Given the description of an element on the screen output the (x, y) to click on. 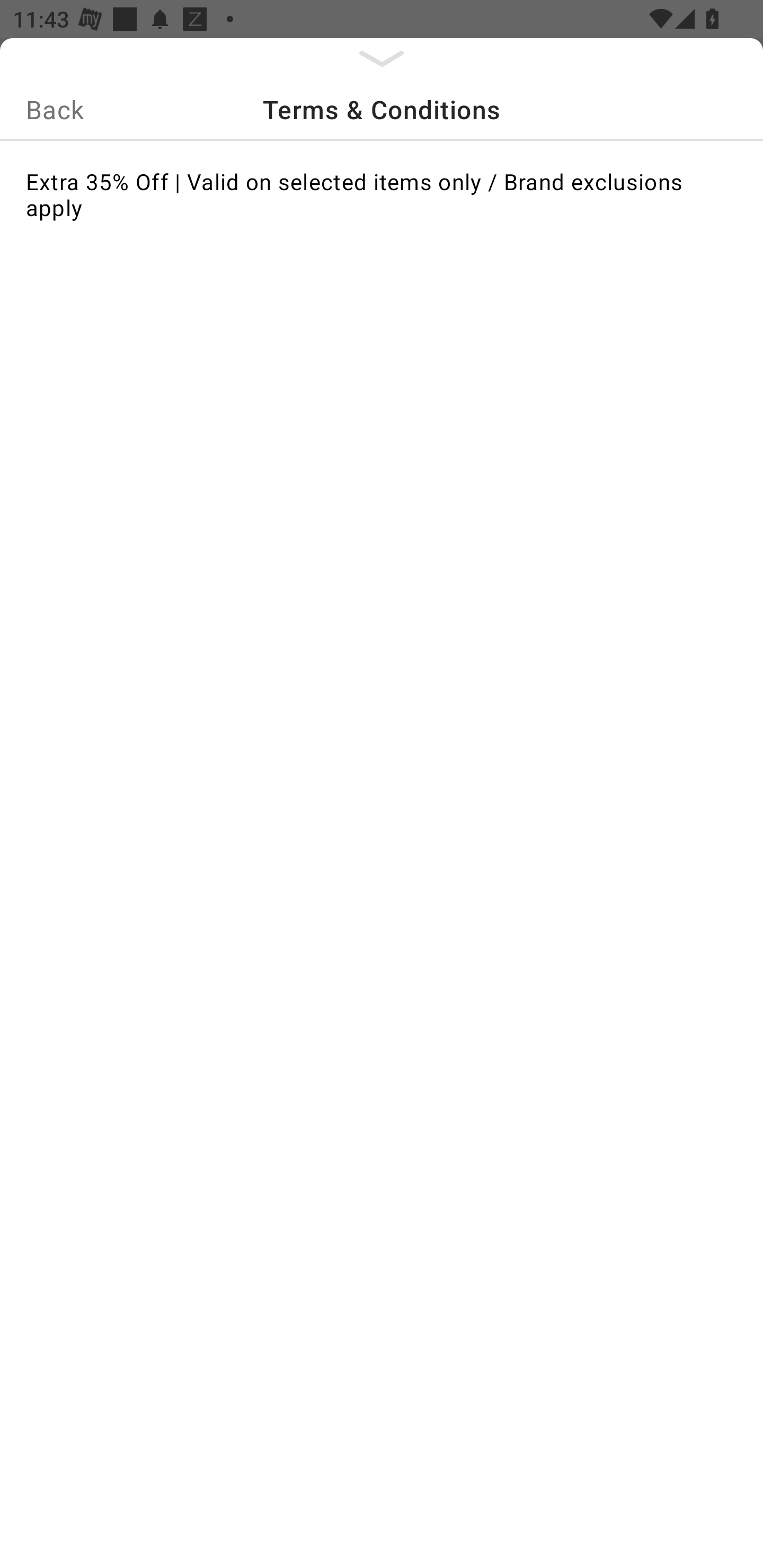
Back (54, 109)
